Given the description of an element on the screen output the (x, y) to click on. 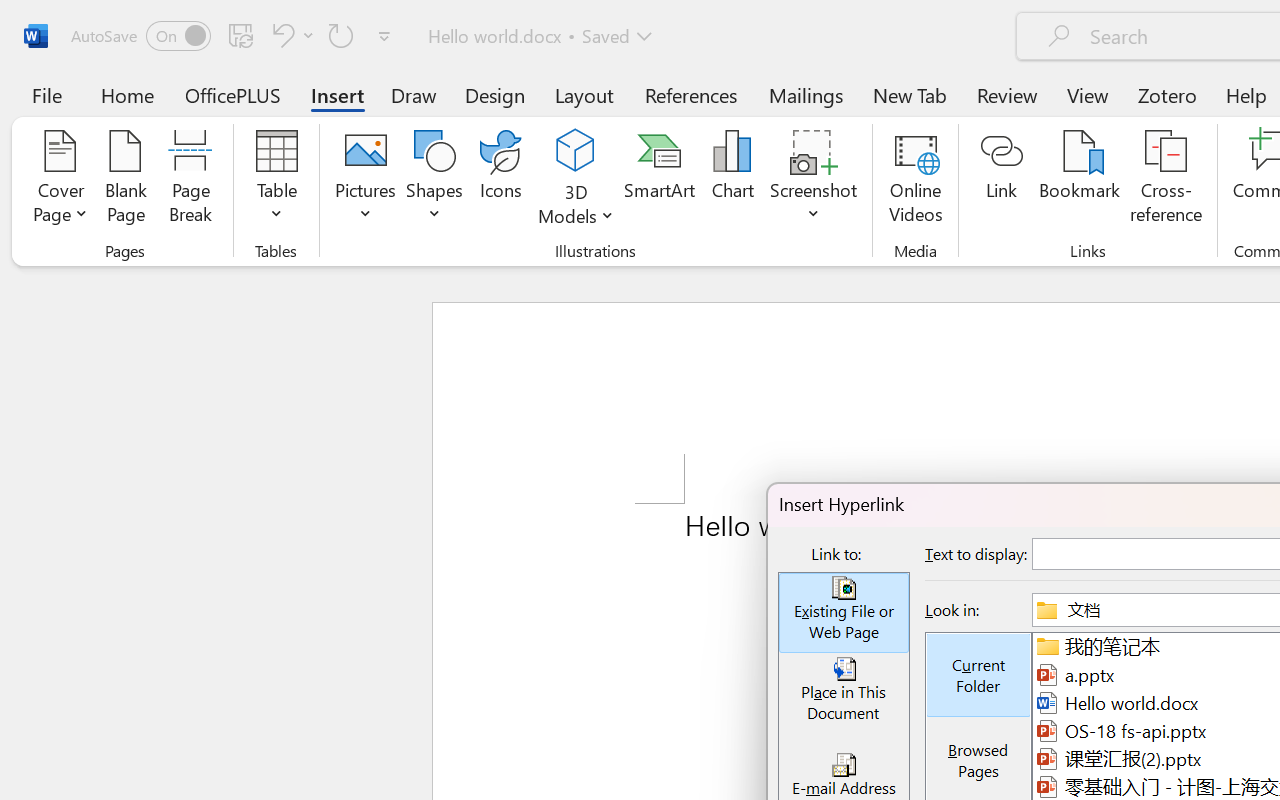
Cover Page (60, 179)
Can't Undo (280, 35)
More Options (576, 208)
Review (1007, 94)
Home (127, 94)
Cross-reference... (1165, 179)
Customize Quick Access Toolbar (384, 35)
Layout (584, 94)
Screenshot (813, 179)
View (1087, 94)
Can't Repeat (341, 35)
